Given the description of an element on the screen output the (x, y) to click on. 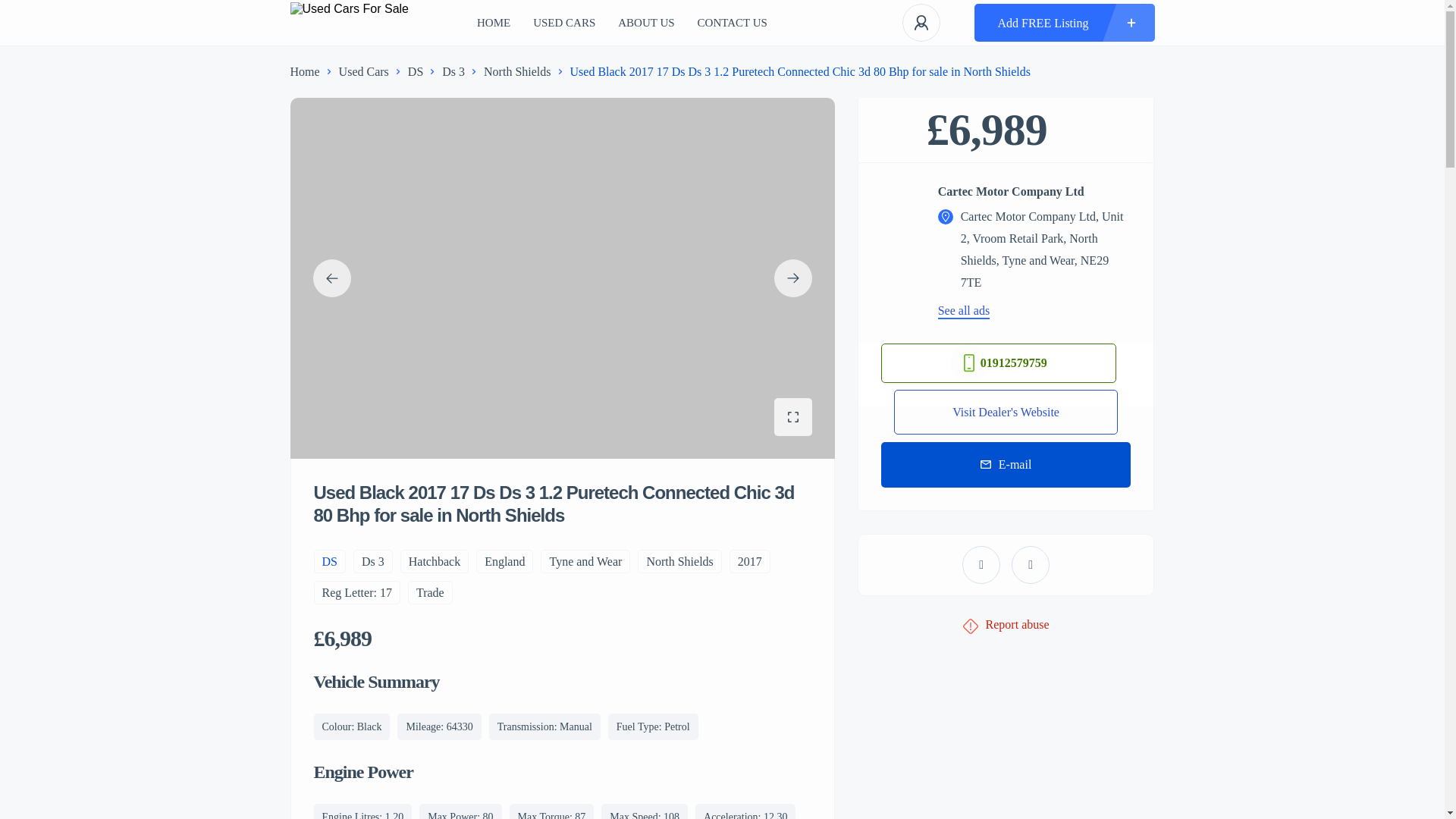
See all ads (963, 310)
ABOUT US (645, 22)
USED CARS (563, 22)
Home (303, 71)
CONTACT US (732, 22)
Cartec Motor Company Ltd (1034, 191)
E-mail (1005, 464)
About us (645, 22)
Add FREE Listing (1064, 22)
Your Account (921, 22)
North Shields (516, 71)
Ds 3 (453, 71)
Visit Dealer's Website (1005, 411)
Add FREE Listing (1064, 22)
Used Cars For Sale (349, 22)
